Given the description of an element on the screen output the (x, y) to click on. 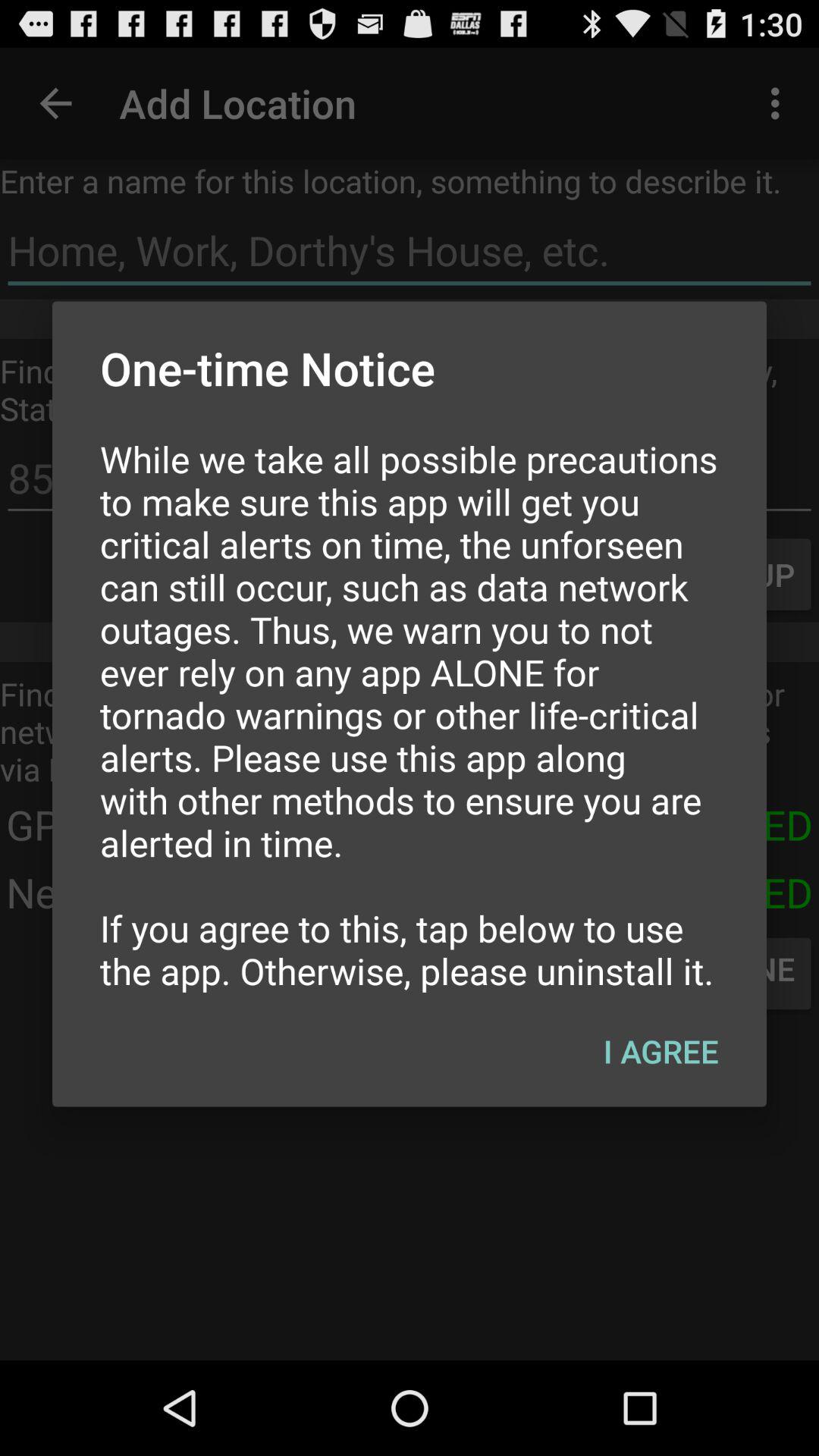
jump to i agree (660, 1050)
